Given the description of an element on the screen output the (x, y) to click on. 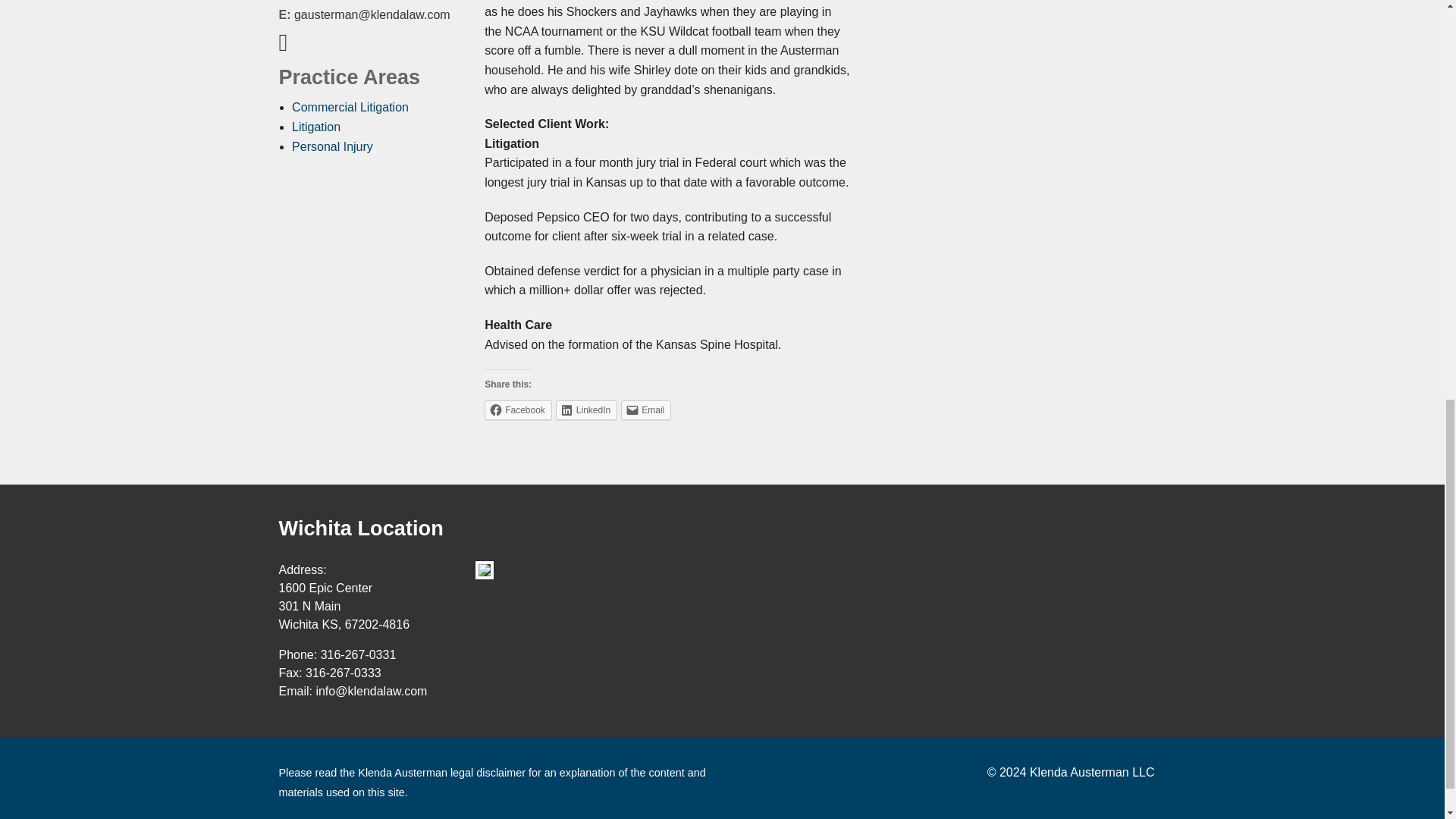
Email (646, 410)
Click to share on LinkedIn (586, 410)
Klenda Law LLC Wichita Law Office Location on Google Maps (484, 570)
LinkedIn (586, 410)
Facebook (517, 410)
Click to share on Facebook (517, 410)
Personal Injury (332, 146)
Click to email a link to a friend (646, 410)
Commercial Litigation (350, 106)
Litigation (316, 126)
